Given the description of an element on the screen output the (x, y) to click on. 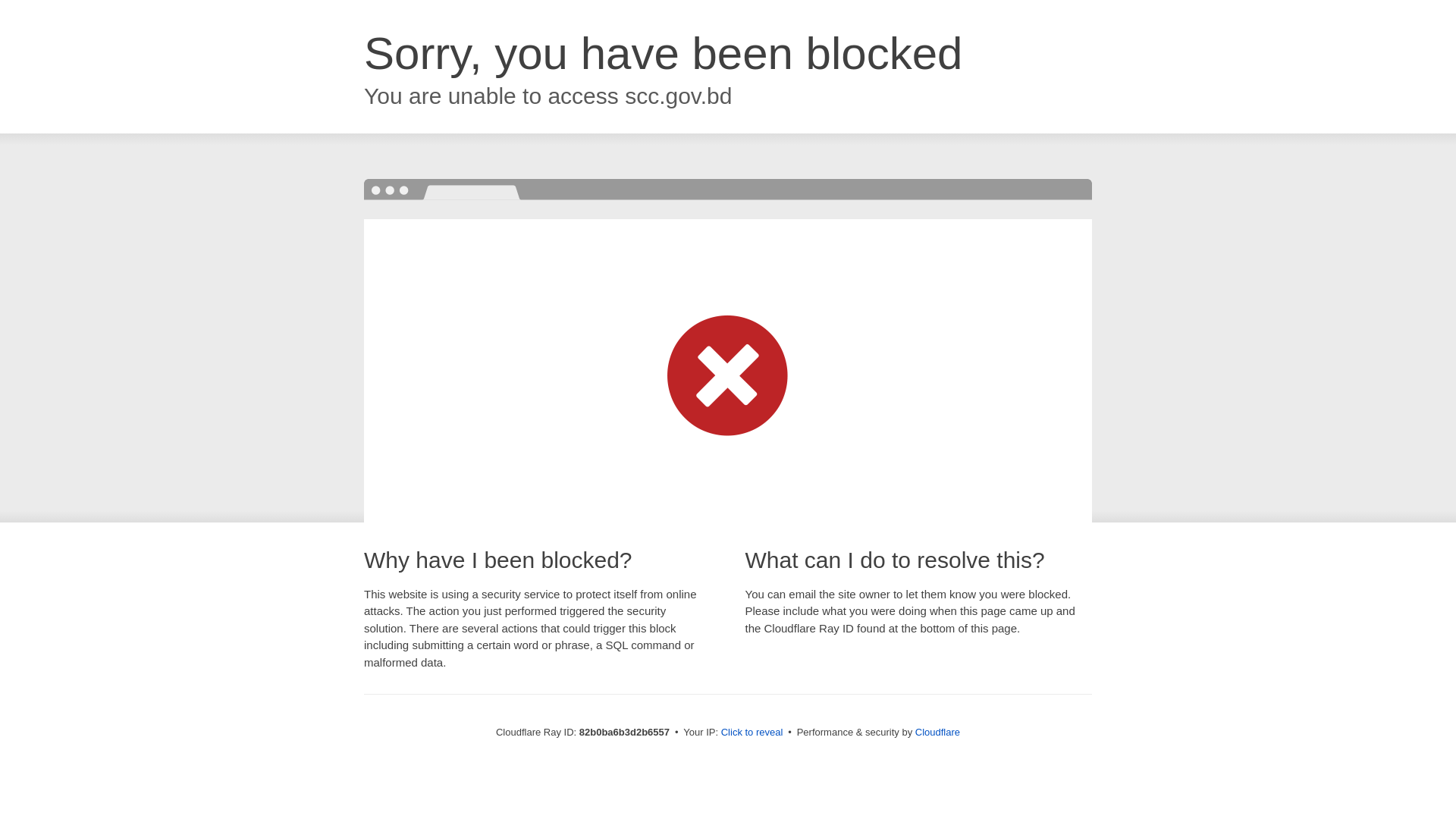
Click to reveal Element type: text (752, 732)
Cloudflare Element type: text (937, 731)
